Given the description of an element on the screen output the (x, y) to click on. 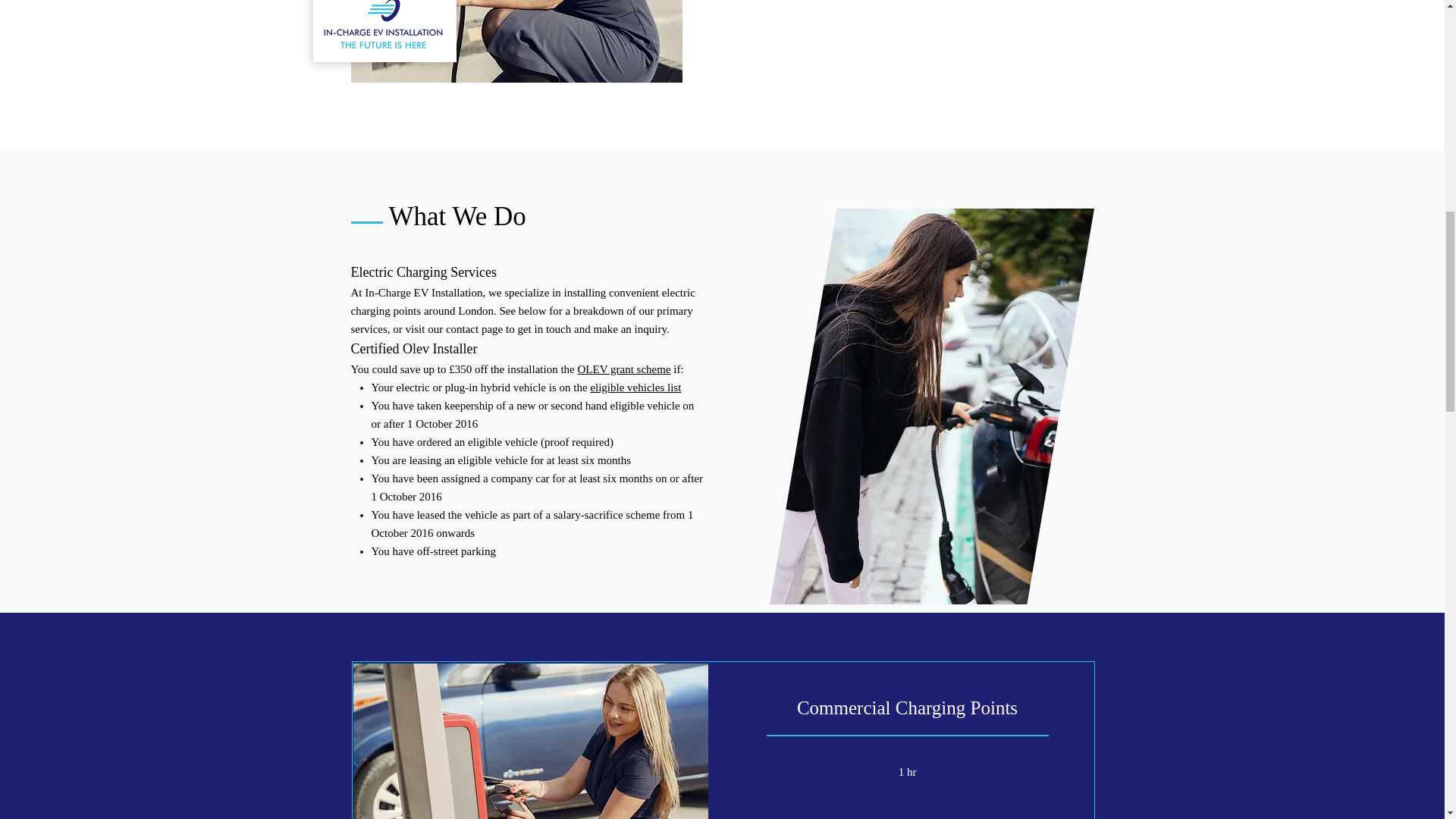
OLEV grant scheme (624, 369)
eligible vehicles list (635, 387)
a woman in a blue dress is charging her car. (515, 41)
a woman in a blue dress is charging her car.	 (530, 741)
In-Charge Ev installation Logo (383, 24)
